Given the description of an element on the screen output the (x, y) to click on. 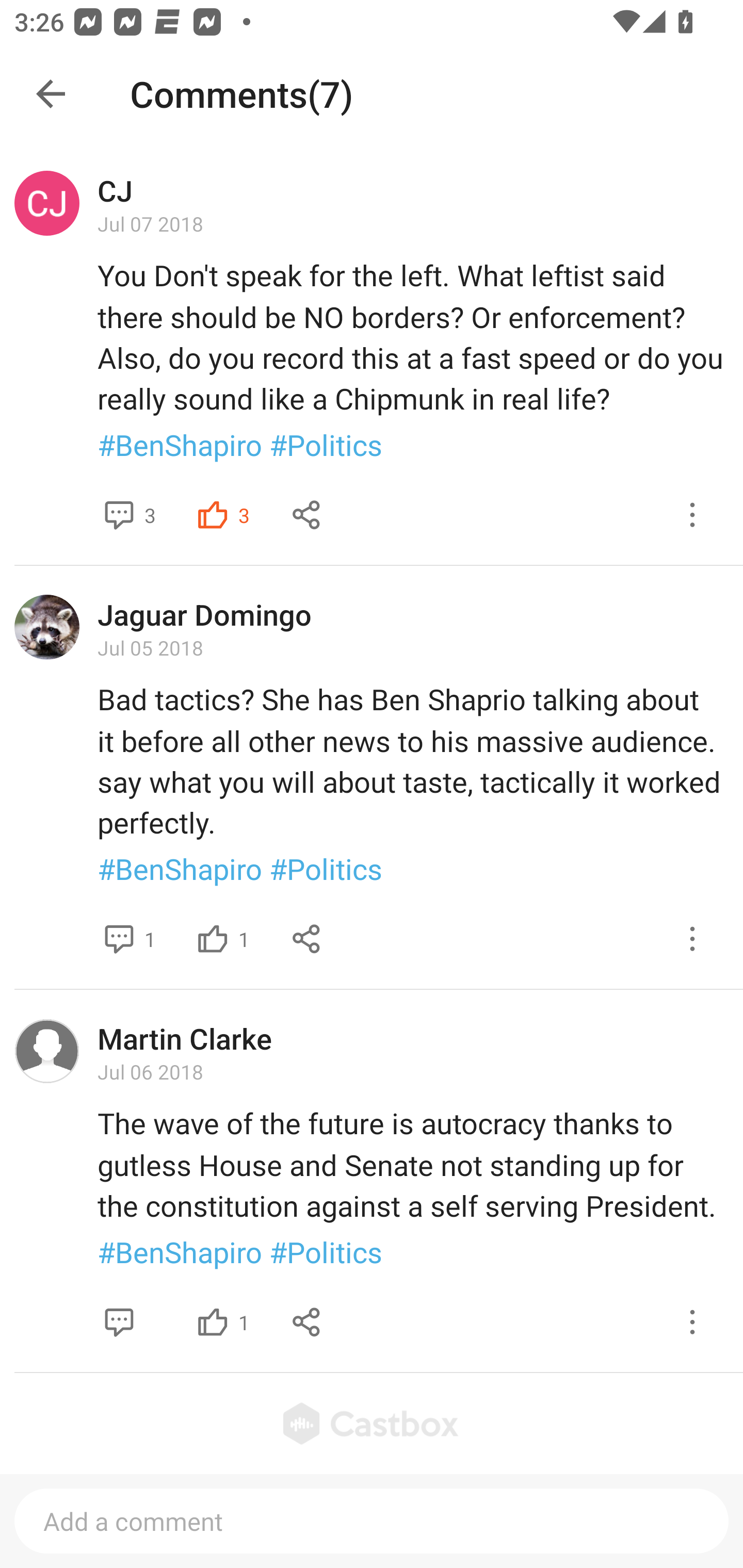
Navigate up (50, 93)
 (119, 514)
 (212, 514)
 (307, 514)
 (692, 514)
 (119, 939)
 (212, 939)
 (307, 939)
 (692, 939)
 (119, 1321)
 (212, 1321)
 (307, 1321)
 (692, 1321)
Add a comment (371, 1520)
